Given the description of an element on the screen output the (x, y) to click on. 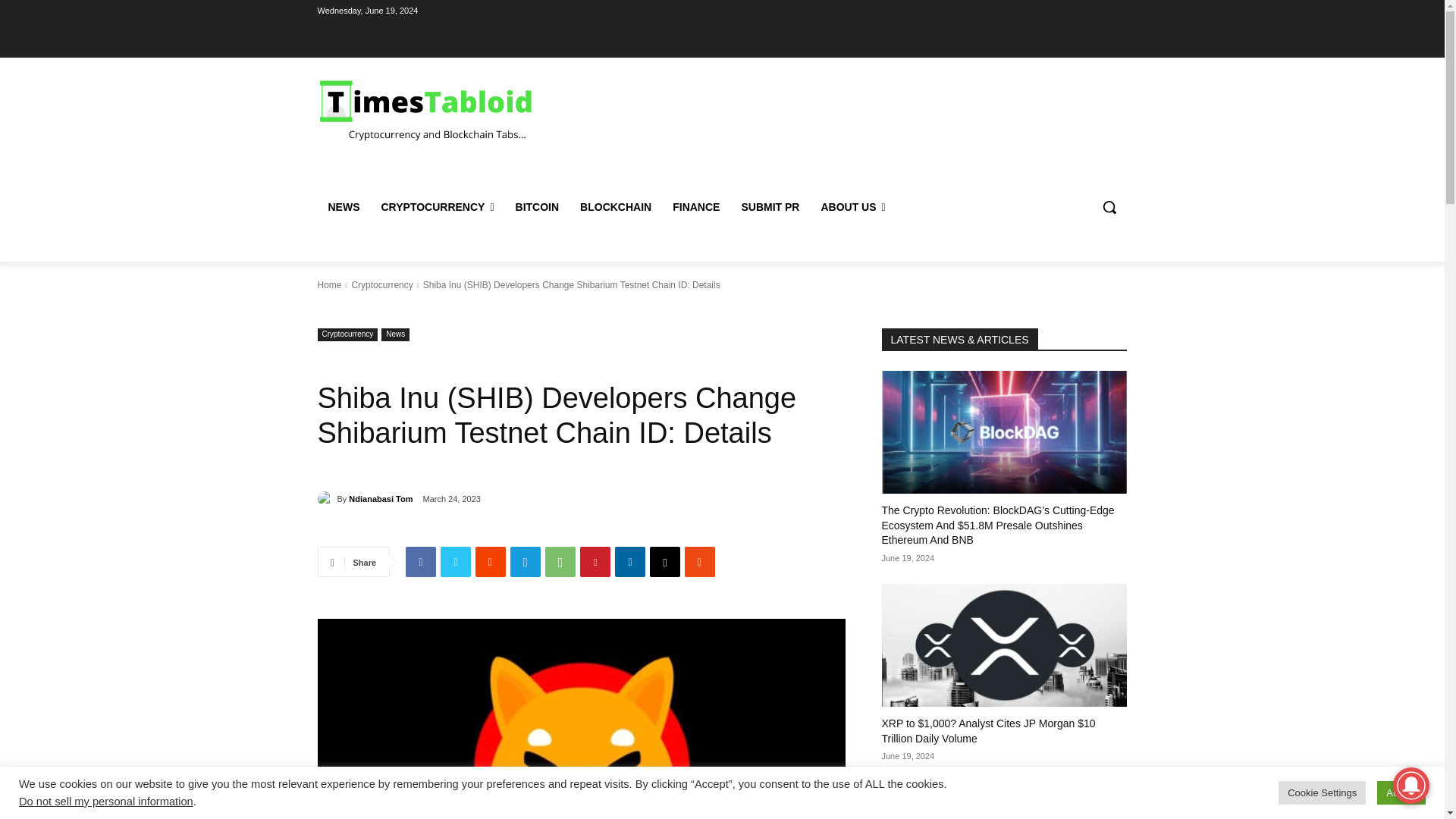
BLOCKCHAIN (615, 207)
CRYPTOCURRENCY (436, 207)
Email (664, 562)
WhatsApp (559, 562)
Ndianabasi Tom (326, 498)
ReddIt (490, 562)
NEWS (343, 207)
FINANCE (696, 207)
SUBMIT PR (769, 207)
View all posts in Cryptocurrency (381, 285)
Linkedin (629, 562)
Twitter (455, 562)
BITCOIN (537, 207)
Telegram (525, 562)
Pinterest (594, 562)
